Given the description of an element on the screen output the (x, y) to click on. 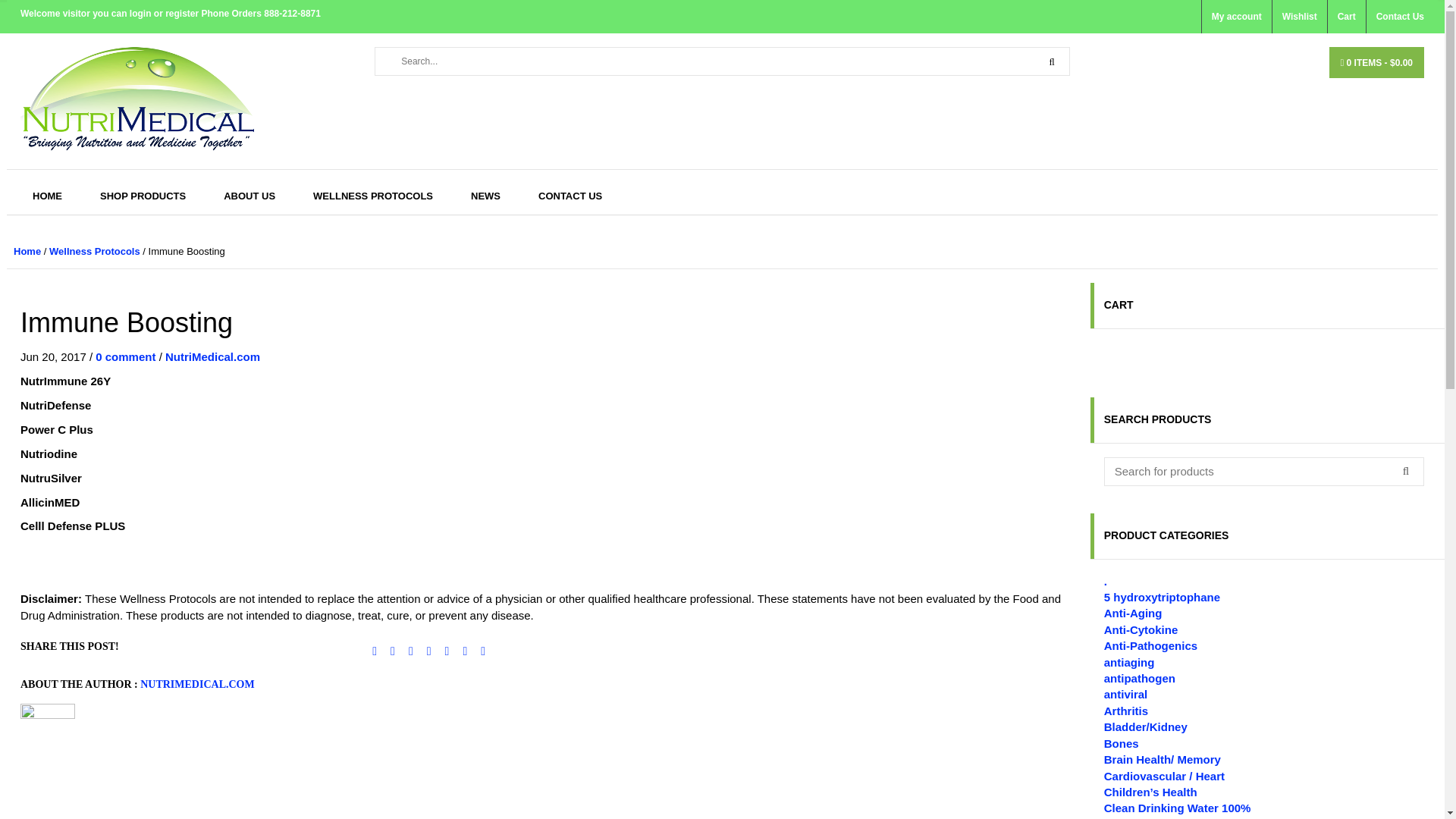
login or register (165, 13)
WELLNESS PROTOCOLS (372, 195)
Contact Us (1394, 16)
View your shopping cart (1376, 61)
My account (1236, 16)
NEWS (485, 195)
Posts by NutriMedical.com (212, 356)
NutriMedical.com (212, 356)
Wishlist (1298, 16)
CONTACT US (570, 195)
